Given the description of an element on the screen output the (x, y) to click on. 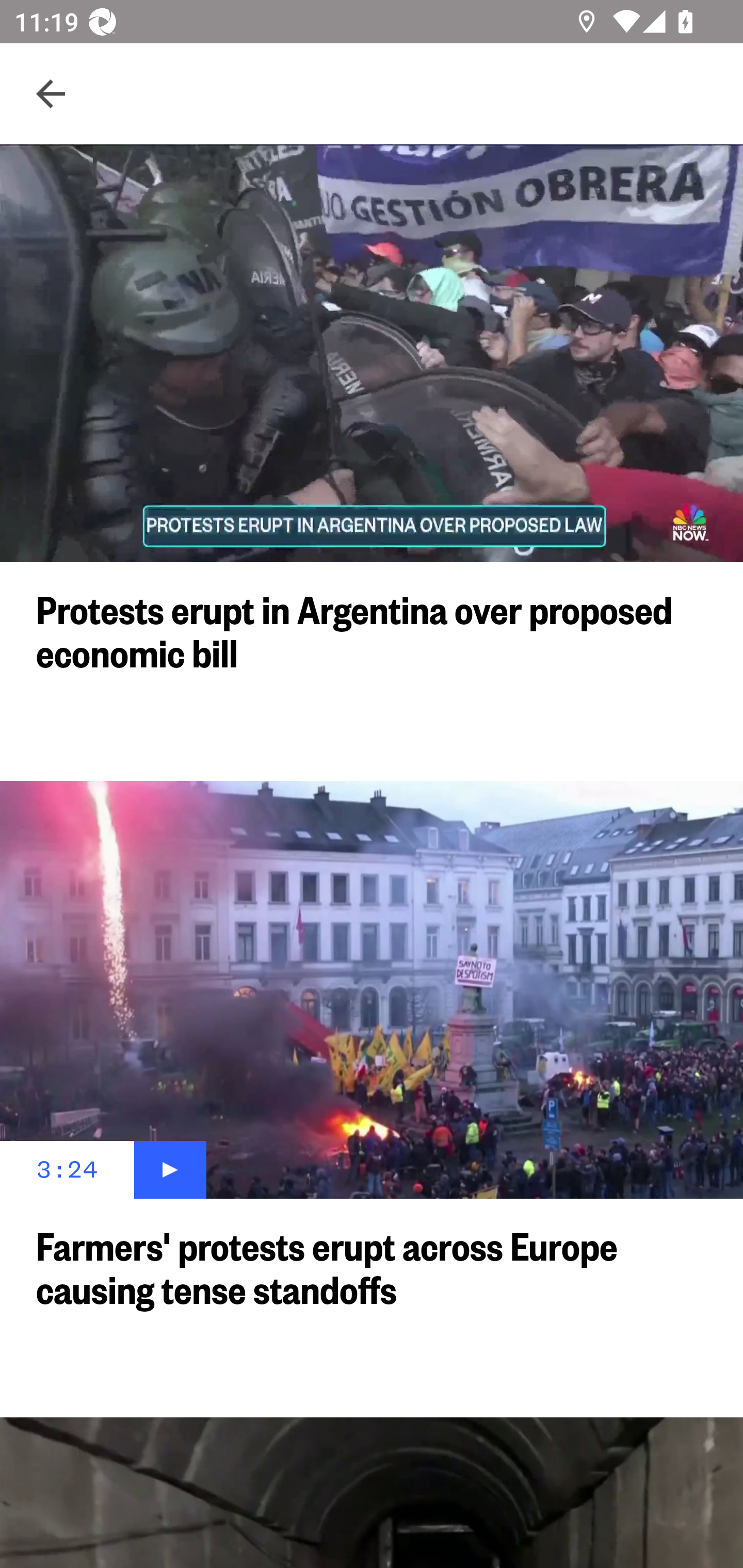
Navigate up (50, 93)
